Given the description of an element on the screen output the (x, y) to click on. 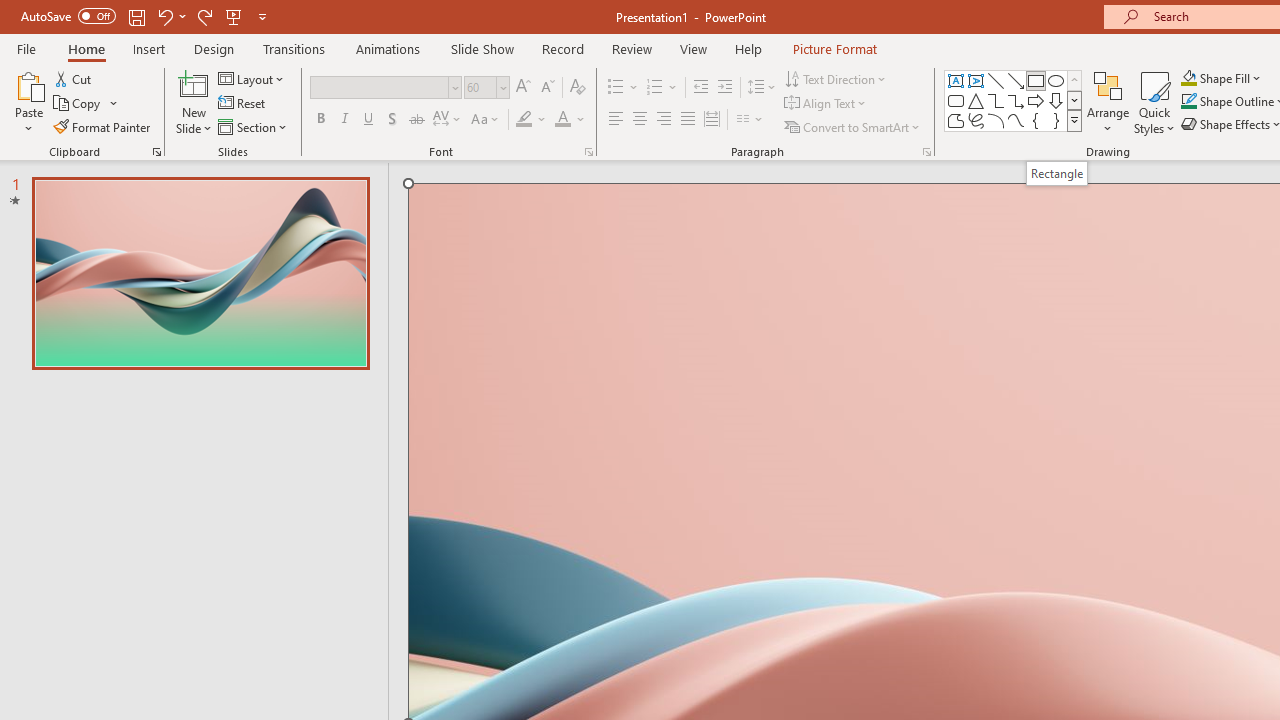
Shape Outline Blue, Accent 1 (1188, 101)
